Given the description of an element on the screen output the (x, y) to click on. 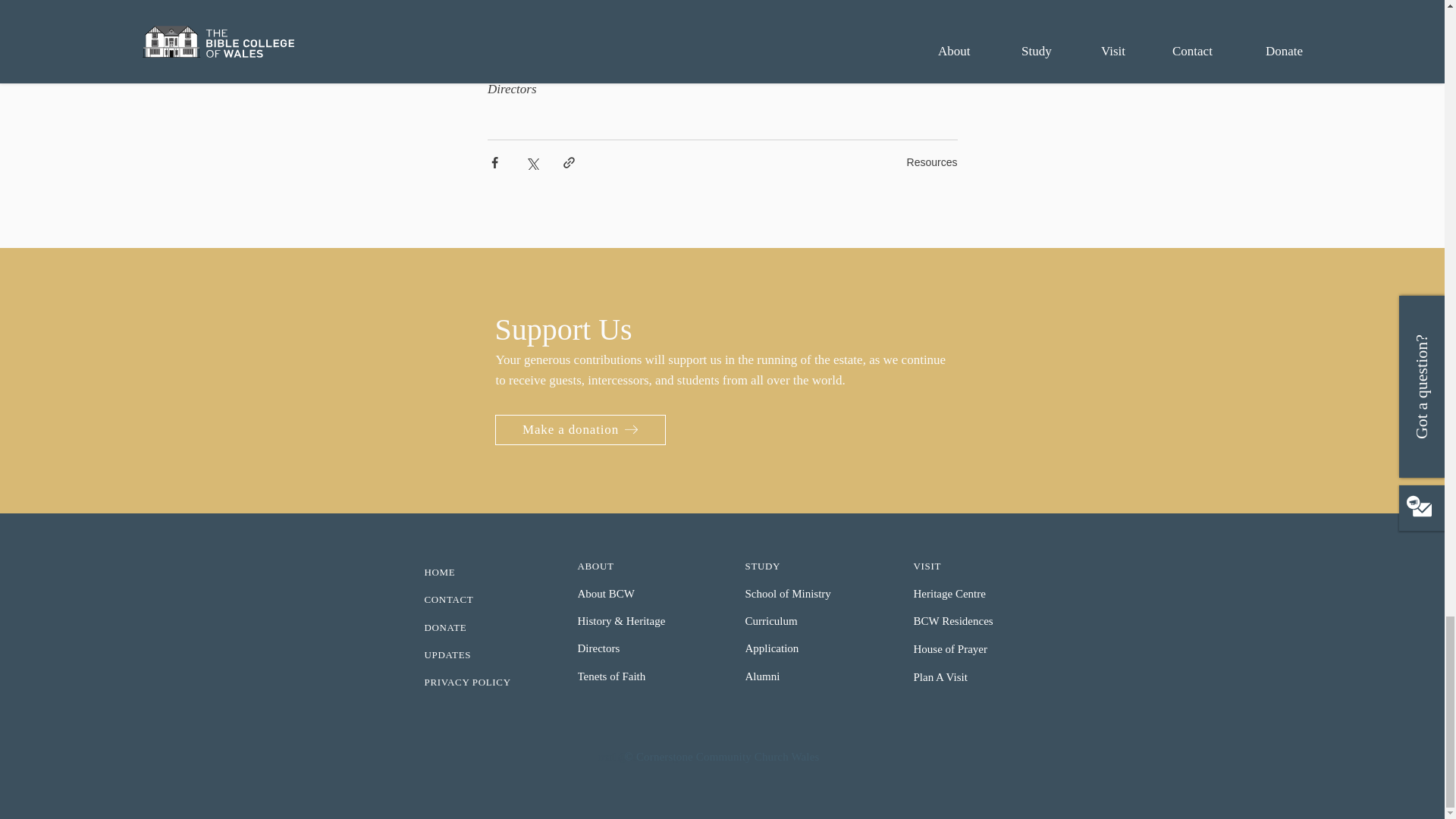
Make a donation (580, 429)
DONATE (485, 628)
HOME (485, 572)
UPDATES (485, 655)
About BCW (638, 593)
PRIVACY POLICY (485, 682)
Tenets of Faith (638, 676)
Directors (638, 648)
CONTACT (485, 600)
Resources (932, 162)
